Given the description of an element on the screen output the (x, y) to click on. 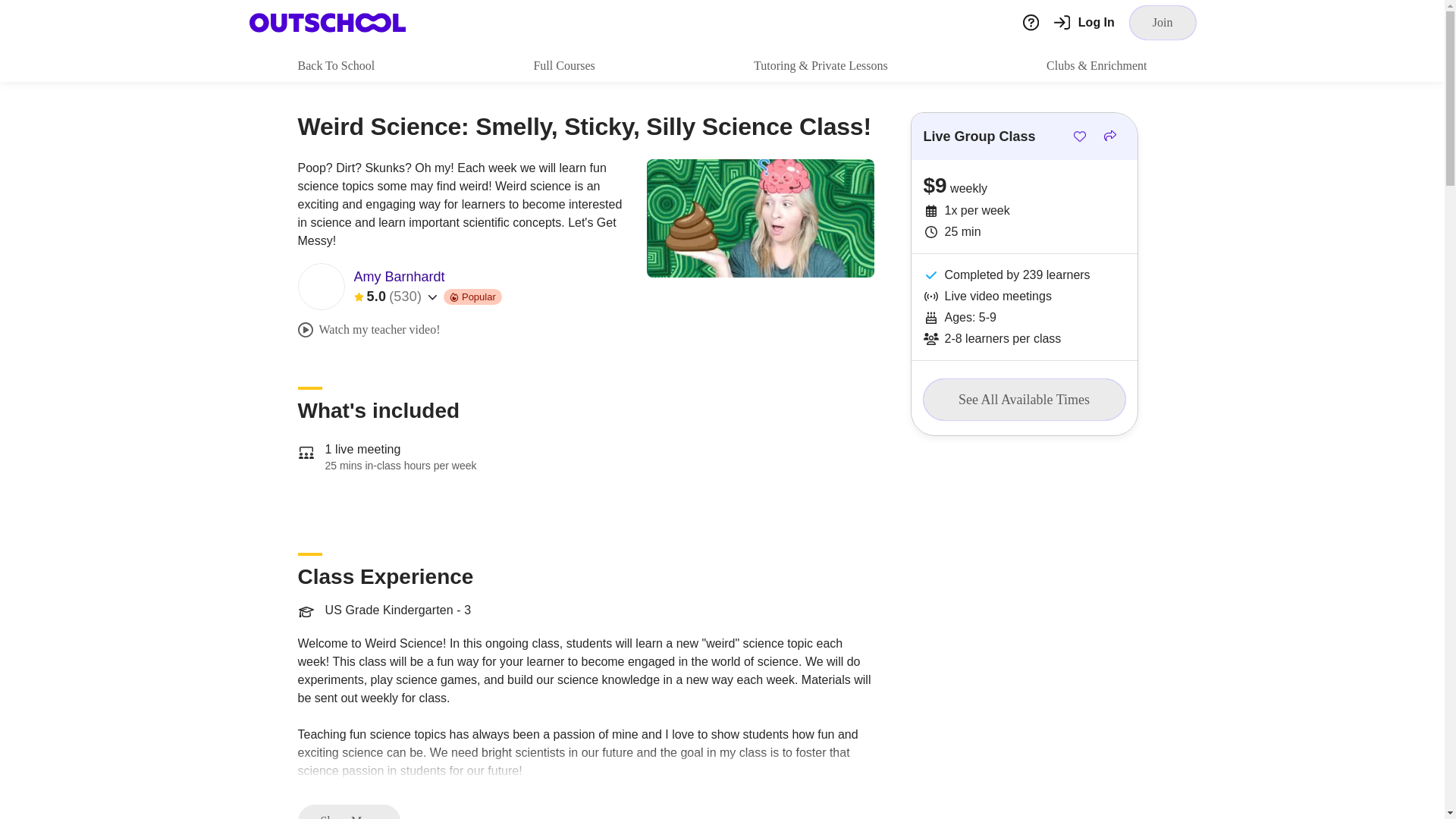
Back To School (335, 65)
Full Courses (563, 65)
See All Available Times (1024, 399)
Show More (347, 811)
Watch my teacher video! (368, 329)
Log In (1084, 22)
Join (1162, 22)
